Given the description of an element on the screen output the (x, y) to click on. 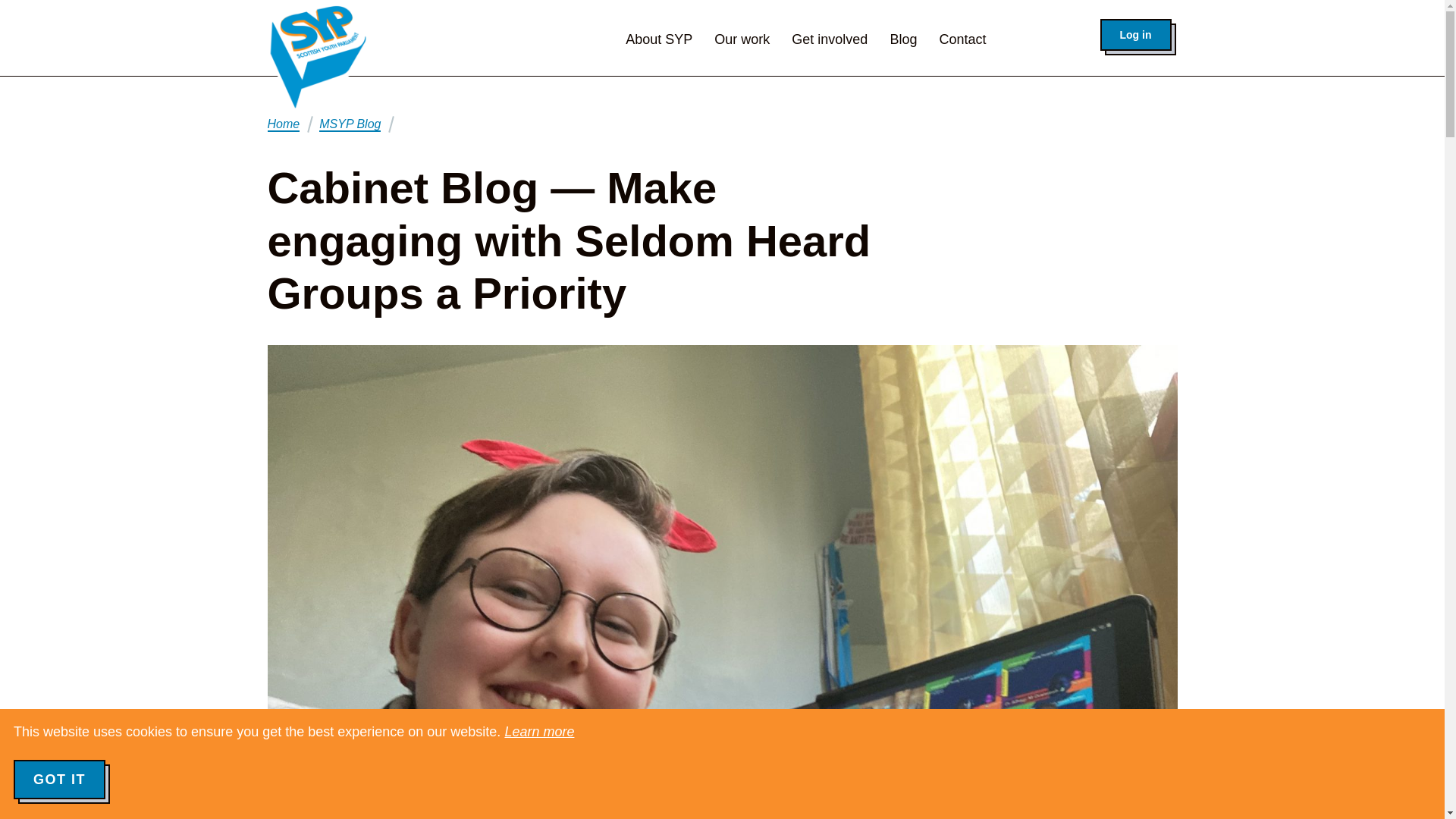
Our work (742, 38)
Blog (903, 38)
MSYP Blog (349, 124)
About SYP (659, 38)
Log in (1134, 34)
Get involved (829, 38)
Contact (962, 38)
Home (282, 124)
